Given the description of an element on the screen output the (x, y) to click on. 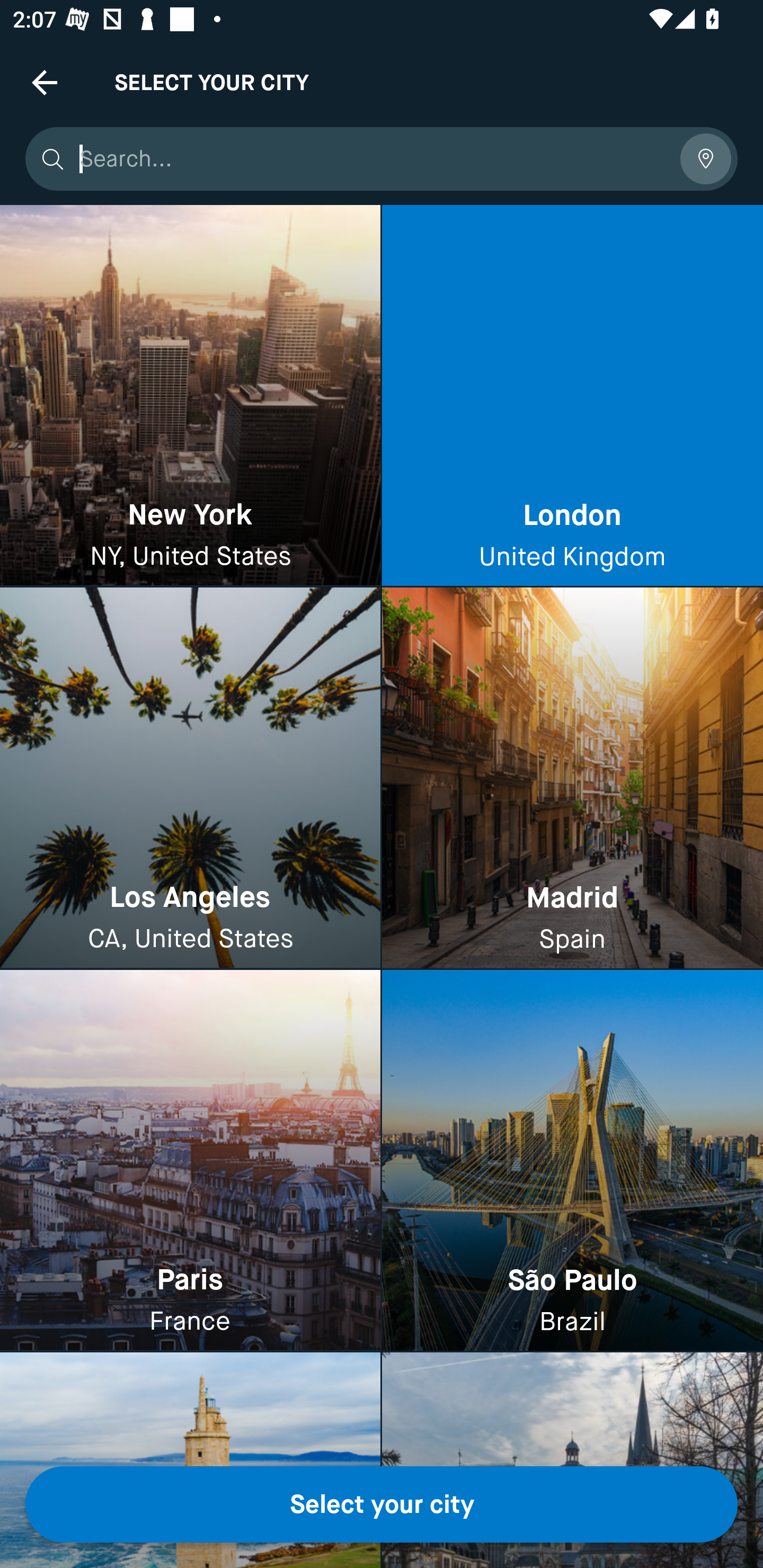
Navigate up (44, 82)
Search... (373, 159)
New York NY, United States (190, 395)
London United Kingdom (572, 395)
Los Angeles CA, United States (190, 778)
Madrid Spain (572, 778)
Paris France (190, 1160)
São Paulo Brazil (572, 1160)
Select your city (381, 1504)
